Given the description of an element on the screen output the (x, y) to click on. 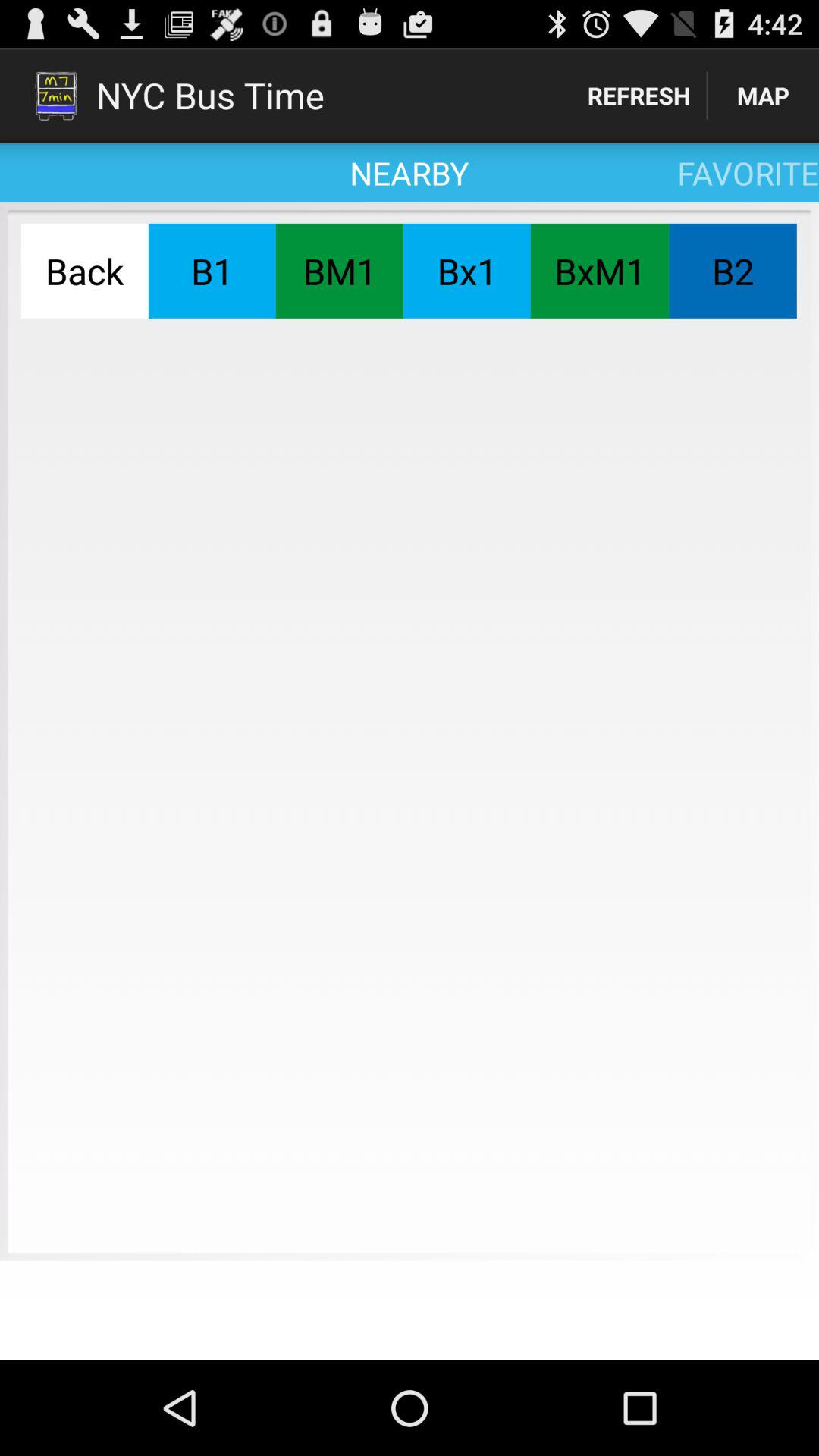
tap button to the right of the b1 button (339, 271)
